Given the description of an element on the screen output the (x, y) to click on. 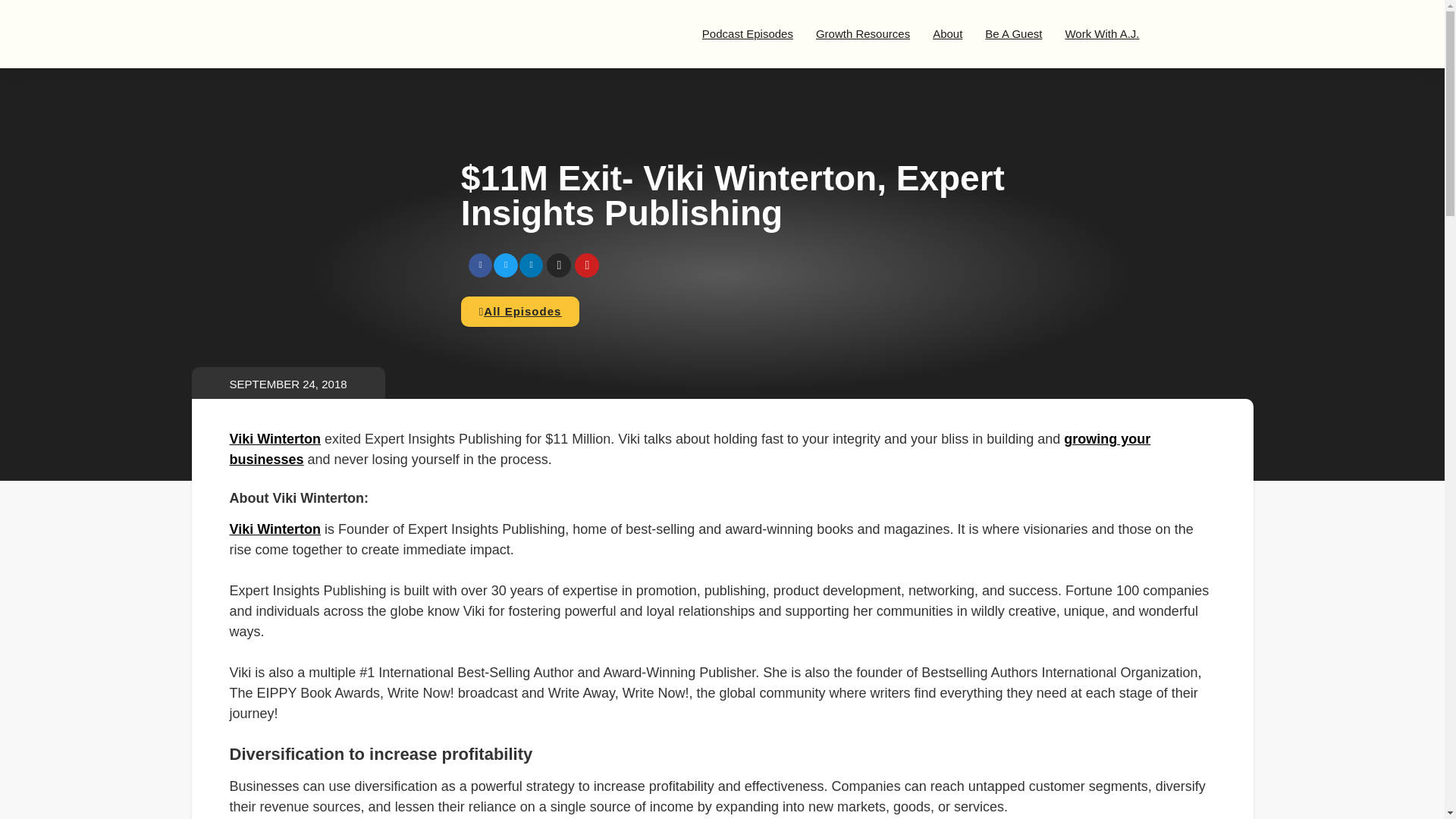
All Episodes (520, 311)
Viki Winterton (274, 438)
Podcast Episodes (747, 33)
Growth Resources (862, 33)
Work With A.J. (1101, 33)
